Given the description of an element on the screen output the (x, y) to click on. 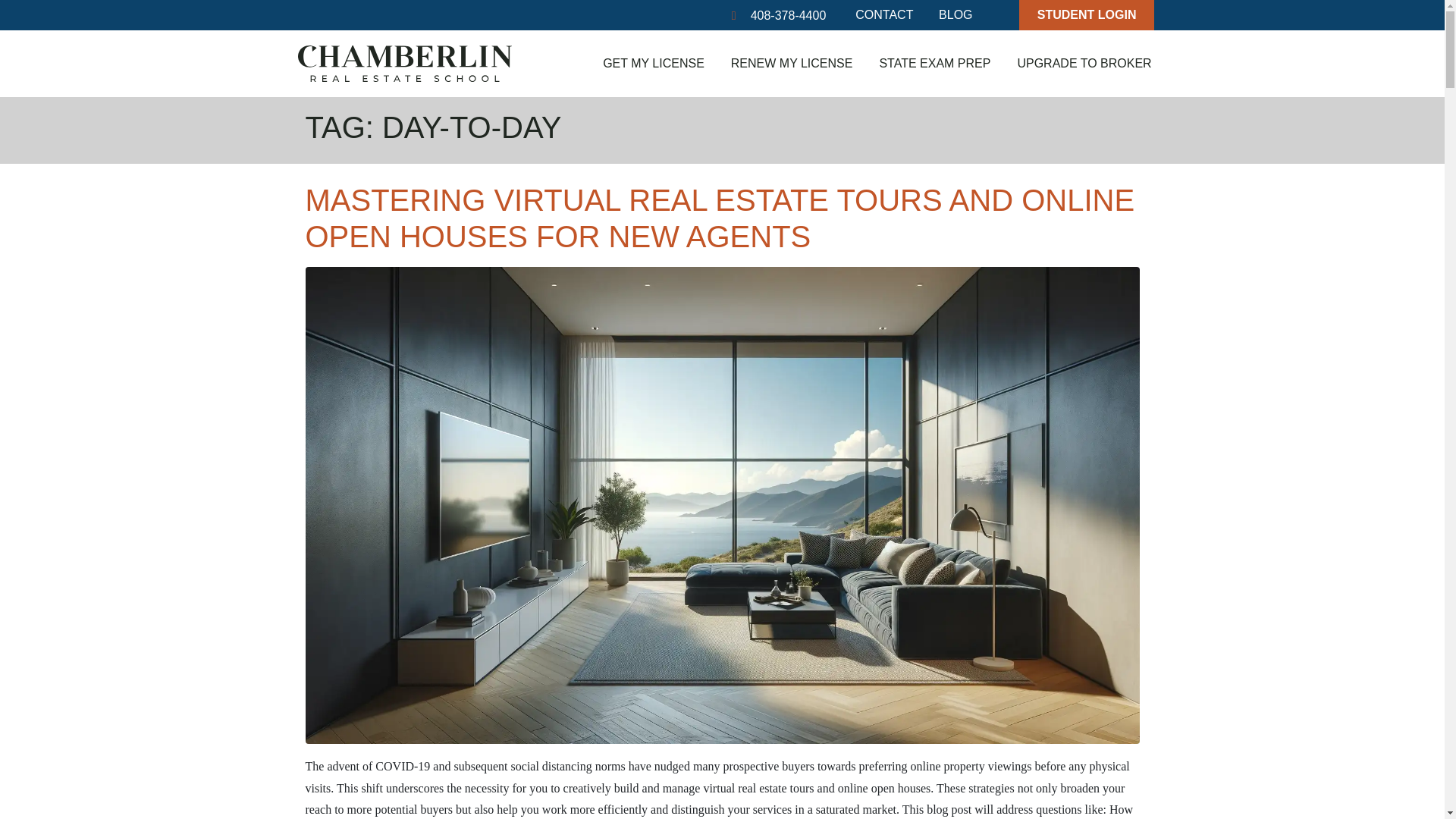
RENEW MY LICENSE (791, 63)
BLOG (955, 15)
STATE EXAM PREP (934, 63)
State Exam Preparation (934, 63)
408-378-4400 (557, 15)
CONTACT (884, 15)
STUDENT LOGIN (1086, 15)
GET MY LICENSE (653, 63)
UPGRADE TO BROKER (1083, 63)
